Given the description of an element on the screen output the (x, y) to click on. 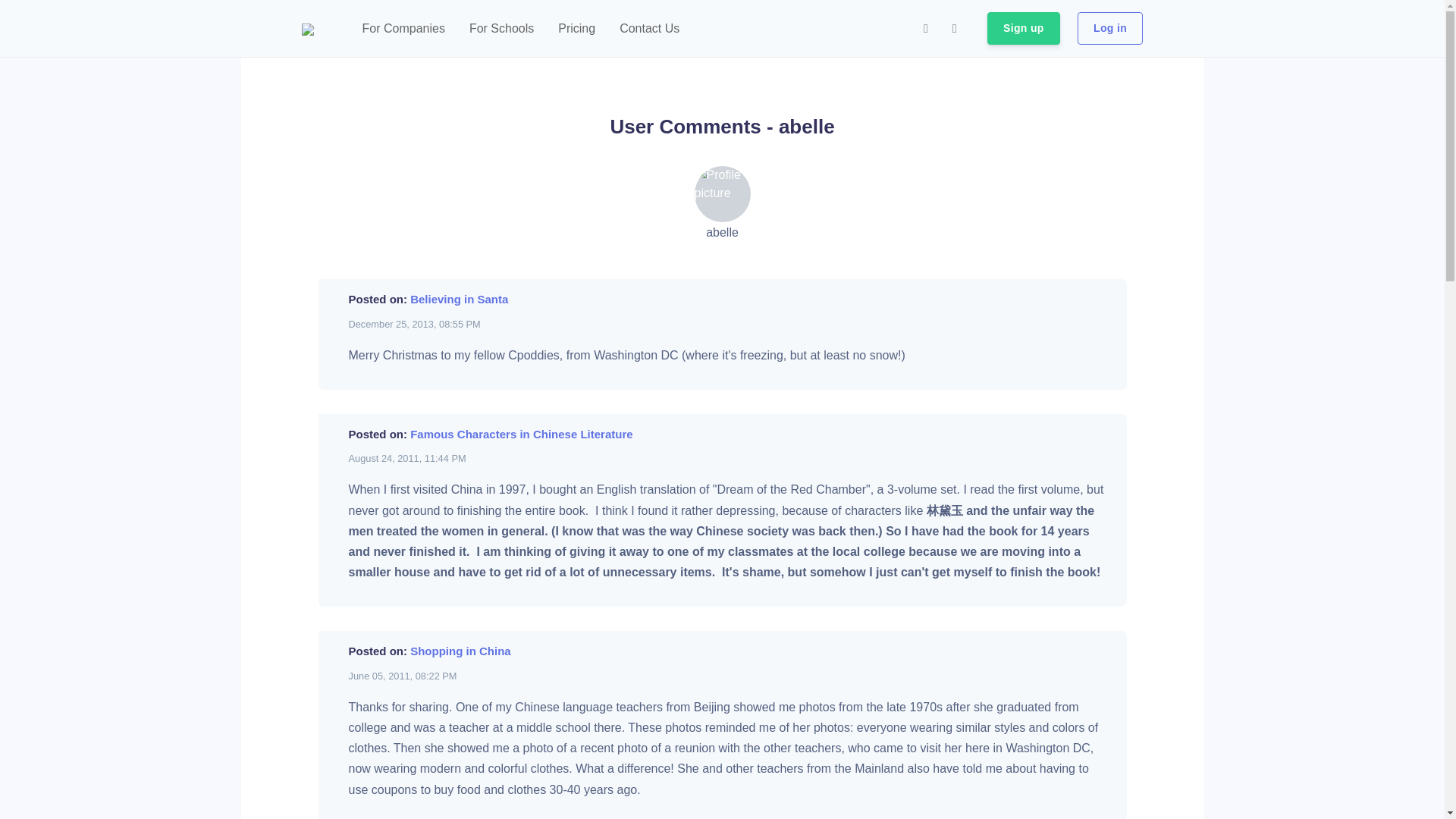
Pricing (576, 28)
For Companies (403, 28)
Follow us on Instagram (925, 28)
Contact Us (649, 28)
Shopping in China (460, 650)
Log in (1109, 28)
Famous Characters in Chinese Literature (520, 433)
Believing in Santa (459, 298)
For Schools (501, 28)
Sign up (1023, 28)
Subscribe on Youtube (954, 28)
